Given the description of an element on the screen output the (x, y) to click on. 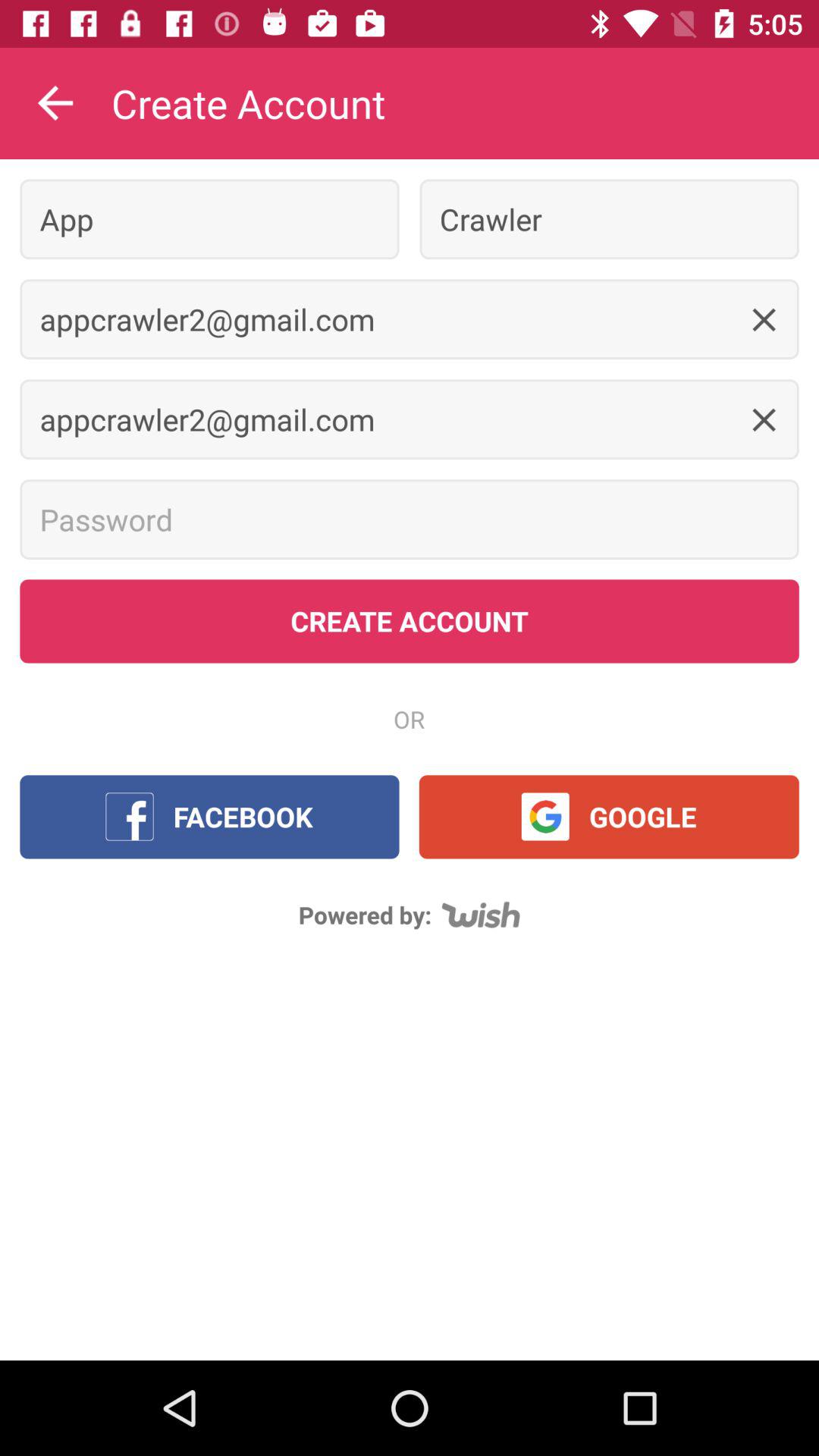
turn on the item to the left of create account (55, 103)
